Given the description of an element on the screen output the (x, y) to click on. 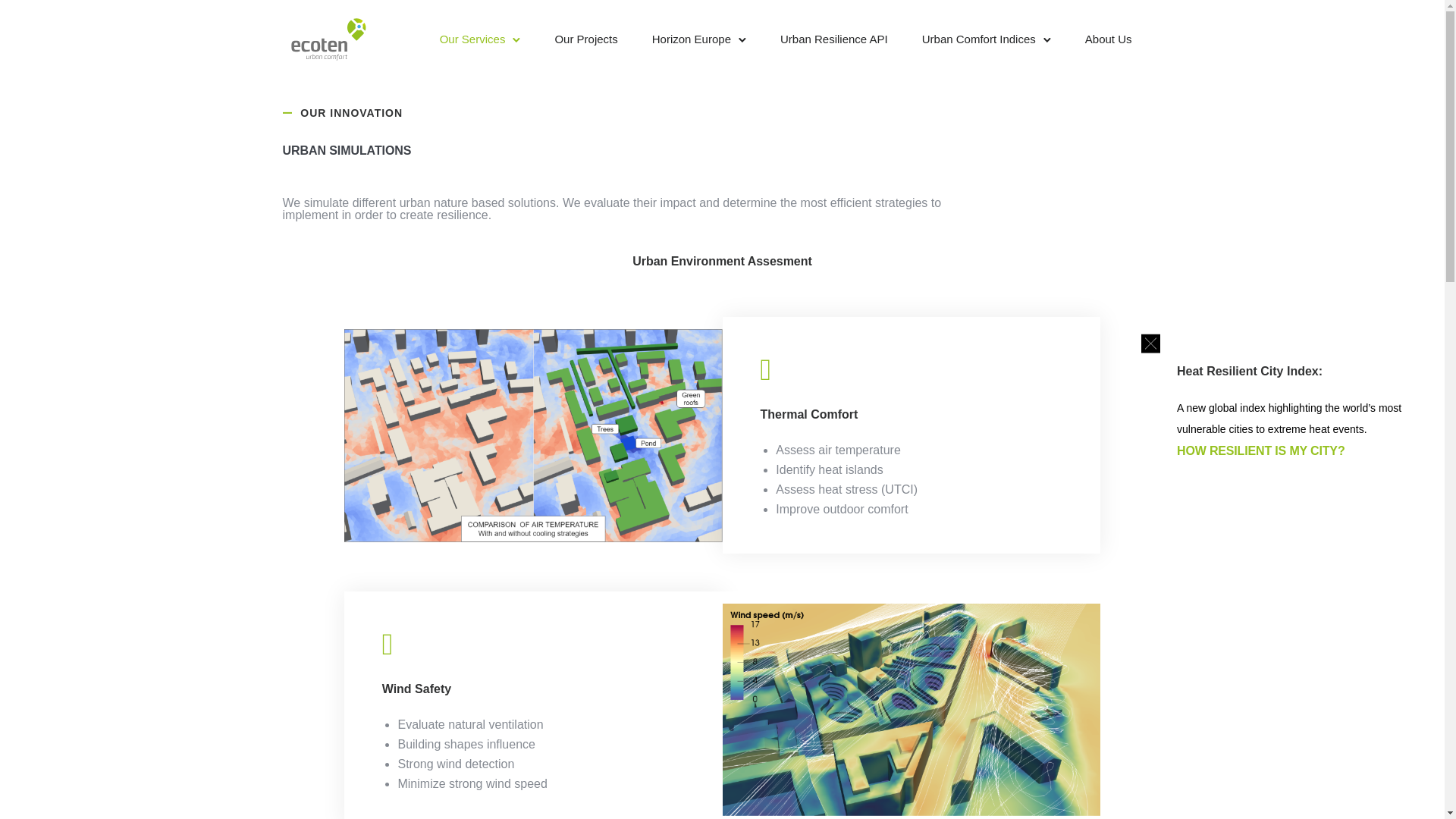
Urban Resilience API (834, 39)
Our Projects (585, 39)
Horizon Europe (691, 39)
Urban Resilience API (834, 39)
Horizon Europe (691, 39)
Our Services (472, 39)
Our Projects (585, 39)
Our Services (472, 39)
Urban Comfort Indices (978, 39)
About Us (1108, 39)
About Us (1108, 39)
HOW RESILIENT IS MY CITY? (1260, 450)
Urban Comfort Indices (978, 39)
